Given the description of an element on the screen output the (x, y) to click on. 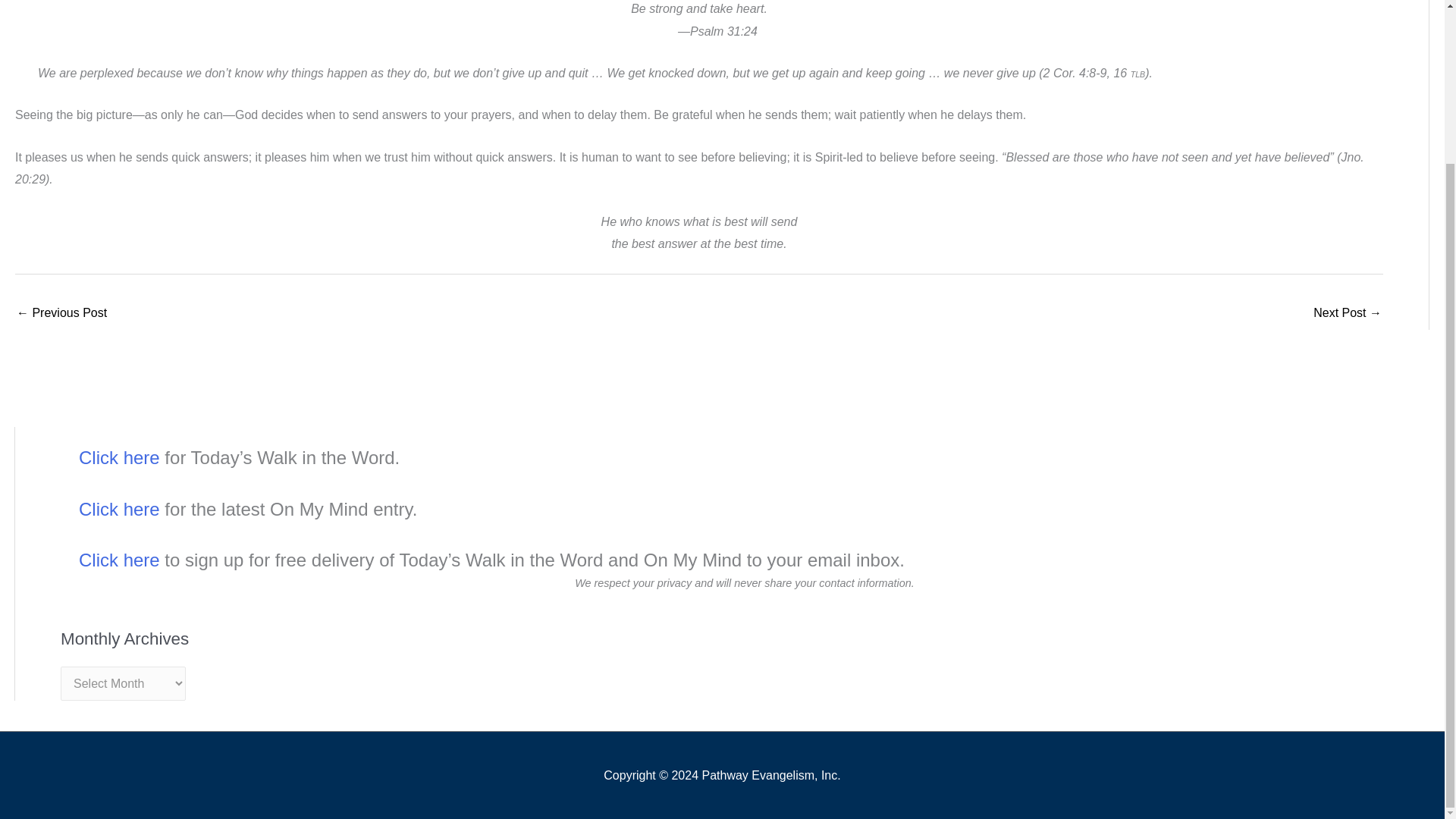
Click here (119, 559)
Click here (119, 508)
He Loves You, Win or Lose (1347, 314)
Thank God for Deliverance (61, 314)
Click here (119, 457)
